Given the description of an element on the screen output the (x, y) to click on. 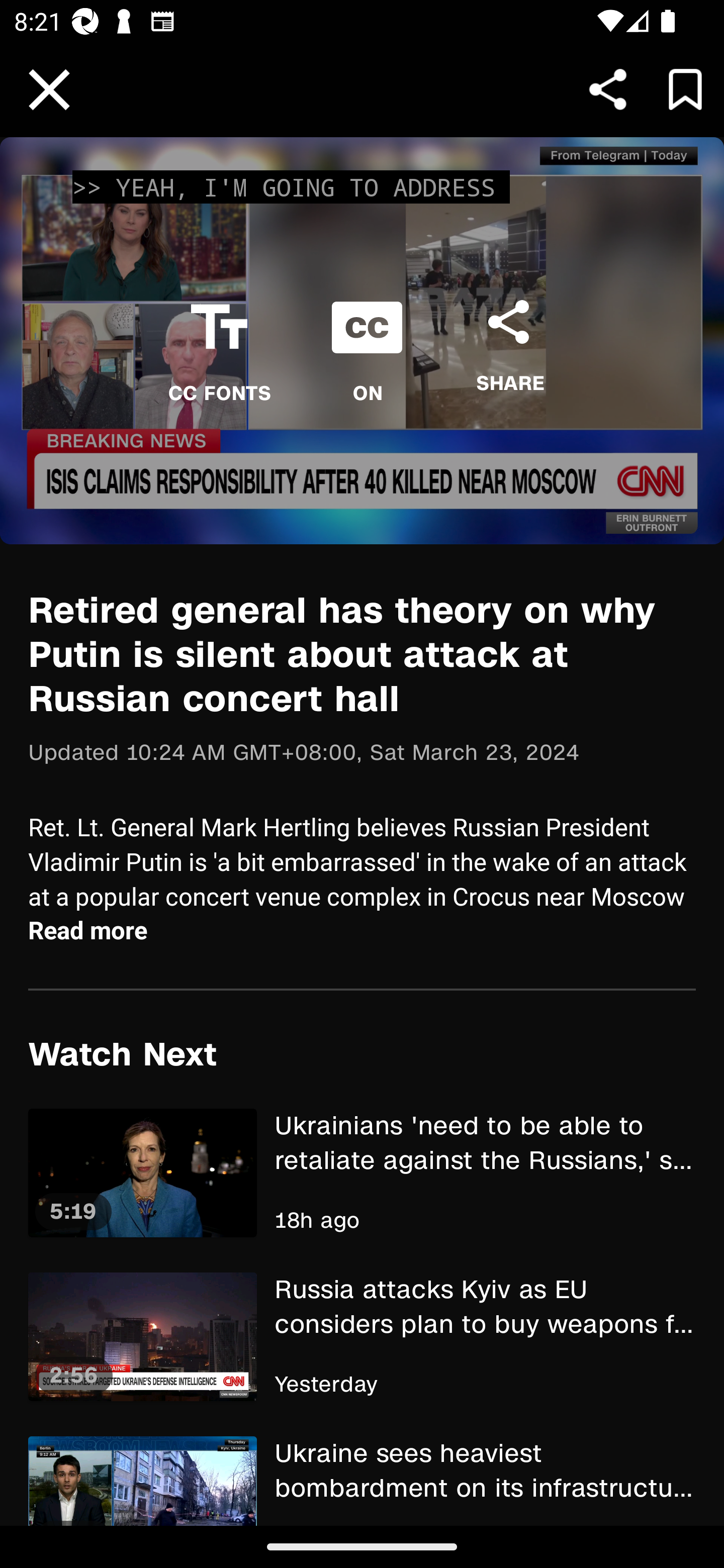
Close (48, 89)
Share (607, 89)
Bookmark (685, 89)
Closed Captions Fonts CC FONTS (219, 340)
Closed Captions On ON (366, 340)
SHARE (509, 336)
